Given the description of an element on the screen output the (x, y) to click on. 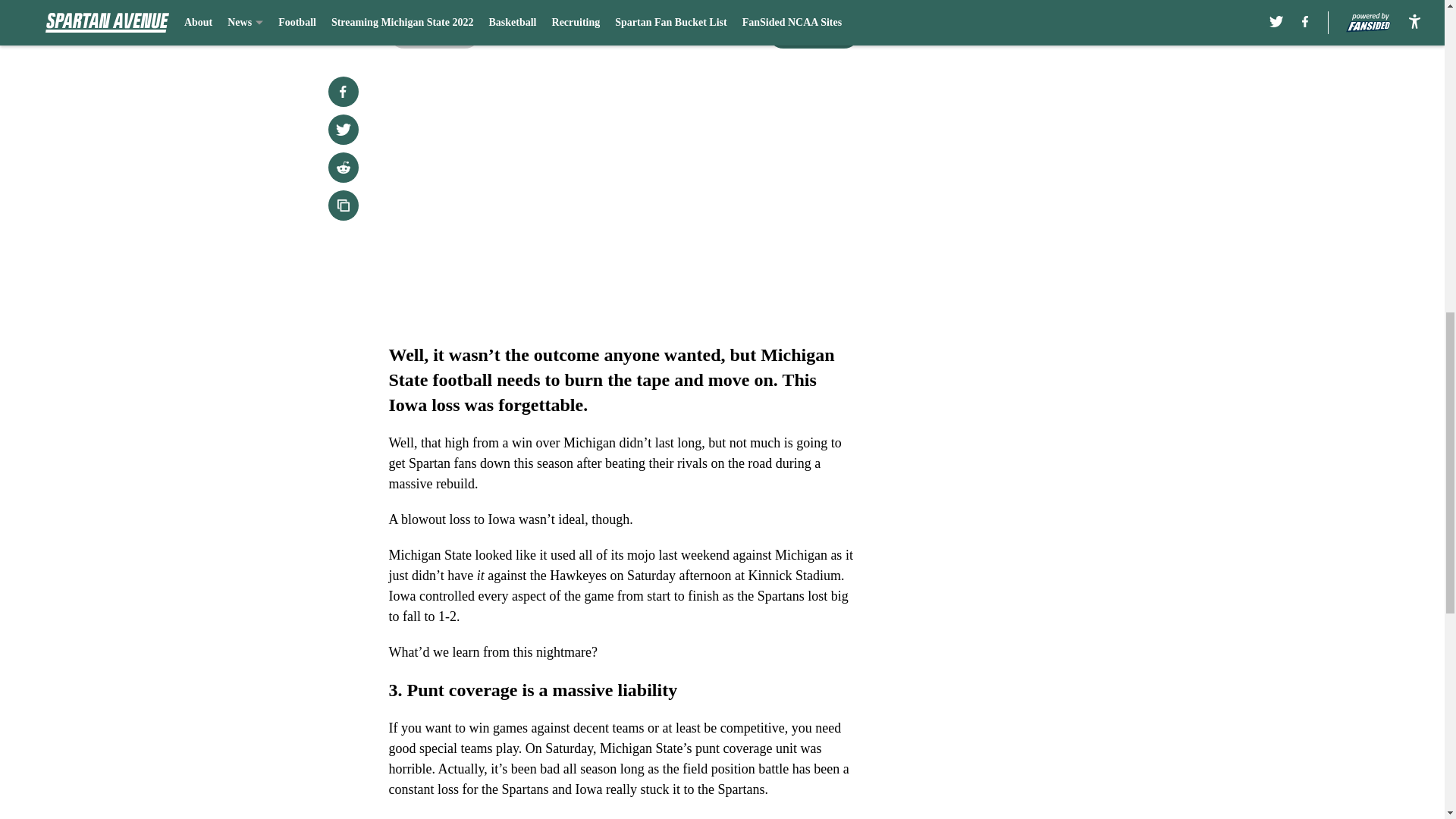
Prev (433, 33)
Next (813, 33)
